Given the description of an element on the screen output the (x, y) to click on. 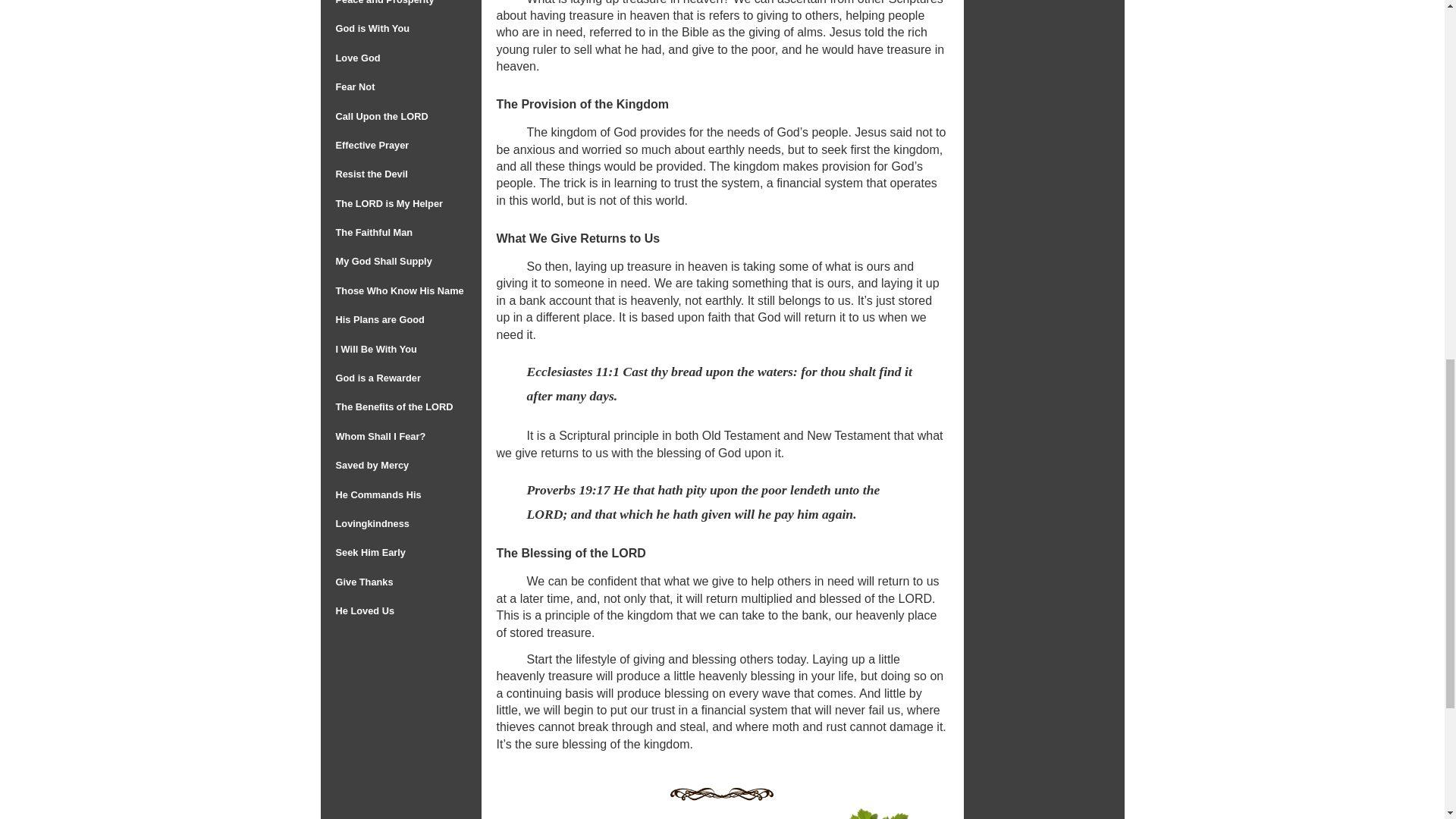
God is a Rewarder (377, 378)
Effective Prayer (371, 144)
Call Upon the LORD (381, 116)
Peace and Prosperity (383, 2)
Saved by Mercy (371, 464)
Love God (357, 57)
The Benefits of the LORD (393, 406)
Fear Not (354, 86)
My God Shall Supply (382, 260)
His Plans are Good (378, 319)
I Will Be With You (375, 348)
The Faithful Man (373, 232)
Those Who Know His Name (398, 290)
Resist the Devil (370, 173)
God is With You (371, 28)
